Given the description of an element on the screen output the (x, y) to click on. 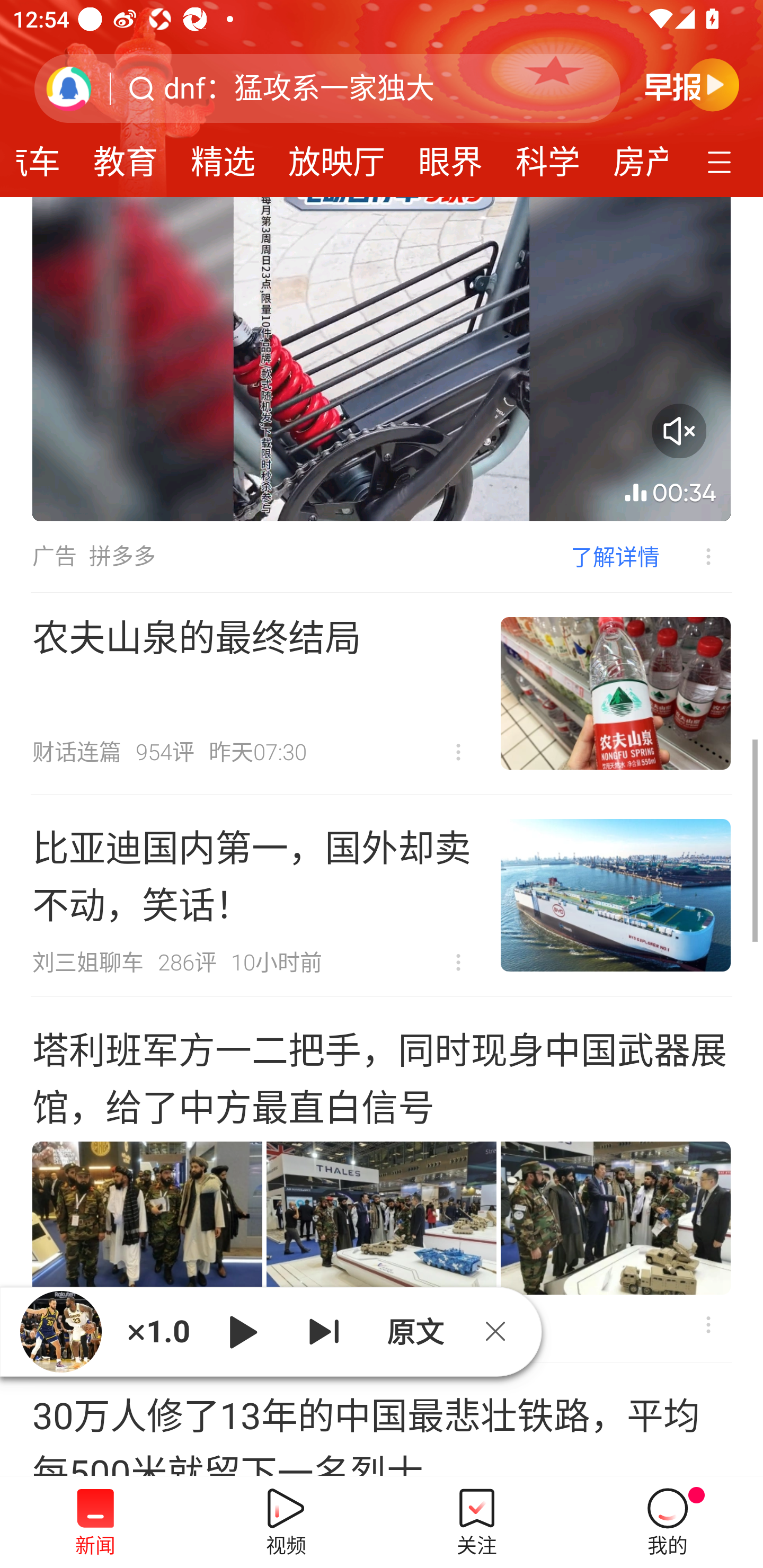
腾讯新闻 (381, 98)
早晚报 (691, 84)
刷新 (68, 88)
dnf：猛攻系一家独大 (299, 88)
汽车 (46, 155)
教育 (125, 155)
精选 (222, 155)
放映厅 (336, 155)
眼界 (450, 155)
科学 (547, 155)
房产 (631, 155)
 定制频道 (721, 160)
00:34 音量开关 (381, 358)
音量开关 (678, 429)
 不感兴趣 (694, 556)
了解详情 (614, 556)
广告 (54, 556)
拼多多 (122, 556)
农夫山泉的最终结局 财话连篇 954评 昨天07:30  不感兴趣 (381, 692)
 不感兴趣 (458, 752)
比亚迪国内第一，国外却卖不动，笑话！ 刘三姐聊车 286评 10小时前  不感兴趣 (381, 894)
 不感兴趣 (458, 962)
 播放 (242, 1330)
 下一个 (323, 1330)
 关闭 (501, 1330)
播放器 (60, 1331)
原文 (413, 1331)
 1.0 (157, 1330)
 不感兴趣 (707, 1324)
30万人修了13年的中国最悲壮铁路，平均每500米就留下一名烈士 (381, 1419)
